Given the description of an element on the screen output the (x, y) to click on. 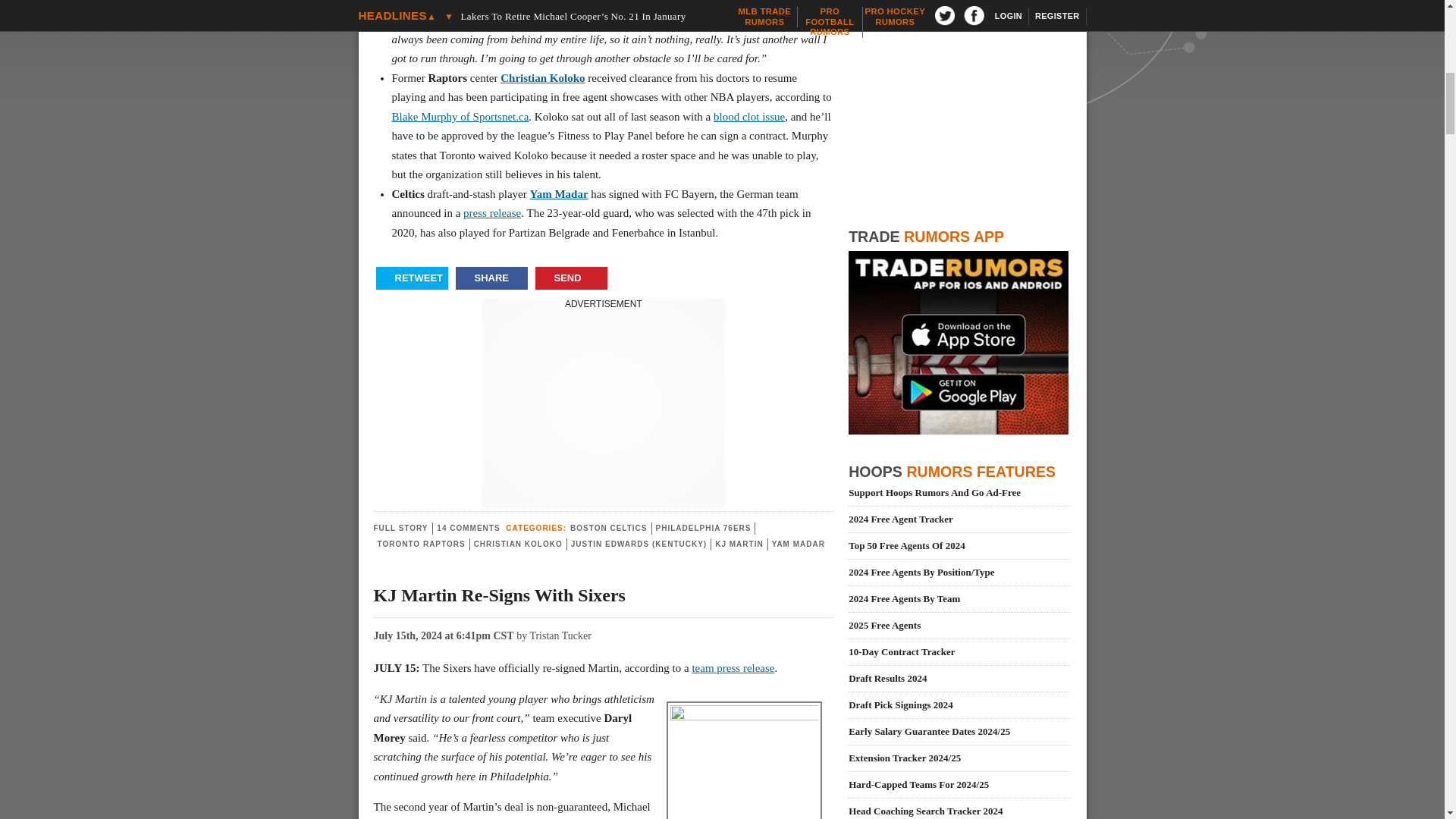
View all posts in Philadelphia 76ers (703, 528)
3rd party ad content (603, 405)
View all posts in KJ Martin (738, 543)
View all posts in Boston Celtics (608, 528)
View all posts in Christian Koloko (518, 543)
View all posts in Toronto Raptors (421, 543)
View all posts in Yam Madar (798, 543)
